Given the description of an element on the screen output the (x, y) to click on. 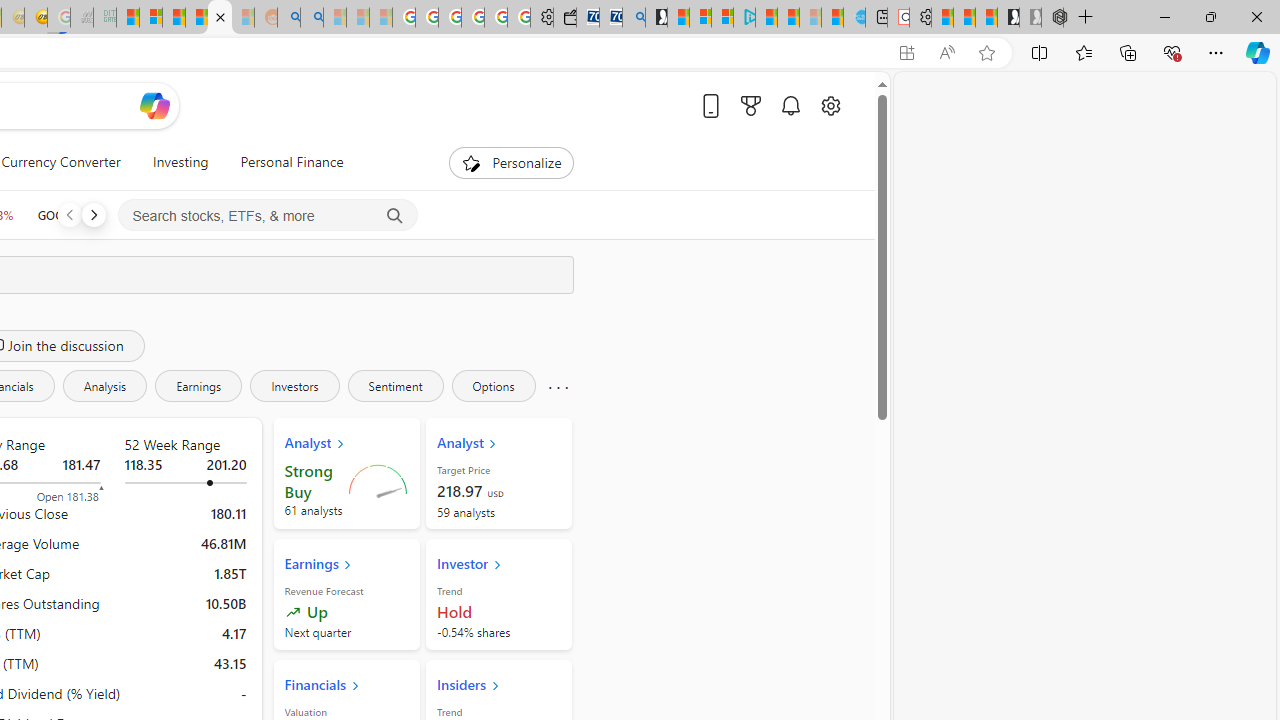
Bing Real Estate - Home sales and rental listings (634, 17)
Next (93, 214)
Wallet (564, 17)
App available. Install Start Money (906, 53)
Earnings (198, 385)
Options (493, 385)
